Given the description of an element on the screen output the (x, y) to click on. 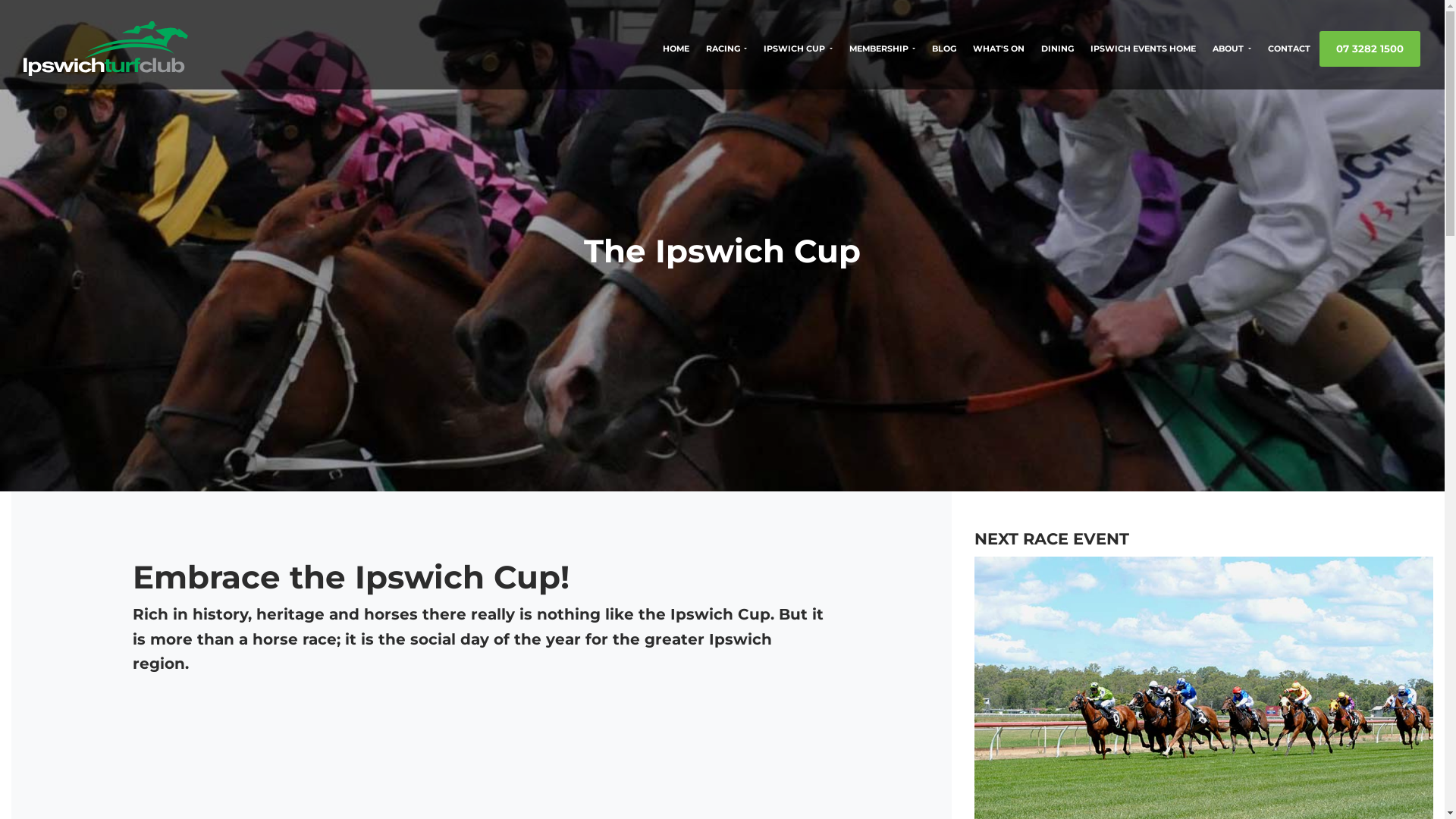
CONTACT Element type: text (1288, 47)
WHAT'S ON Element type: text (998, 47)
IPSWICH CUP Element type: text (797, 47)
RACING Element type: text (726, 47)
IPSWICH EVENTS HOME Element type: text (1143, 47)
ABOUT Element type: text (1231, 47)
MEMBERSHIP Element type: text (882, 47)
HOME Element type: text (675, 47)
Ipswich Turf Club Element type: hover (105, 48)
BLOG Element type: text (943, 47)
07 3282 1500 Element type: text (1369, 47)
DINING Element type: text (1057, 47)
